Given the description of an element on the screen output the (x, y) to click on. 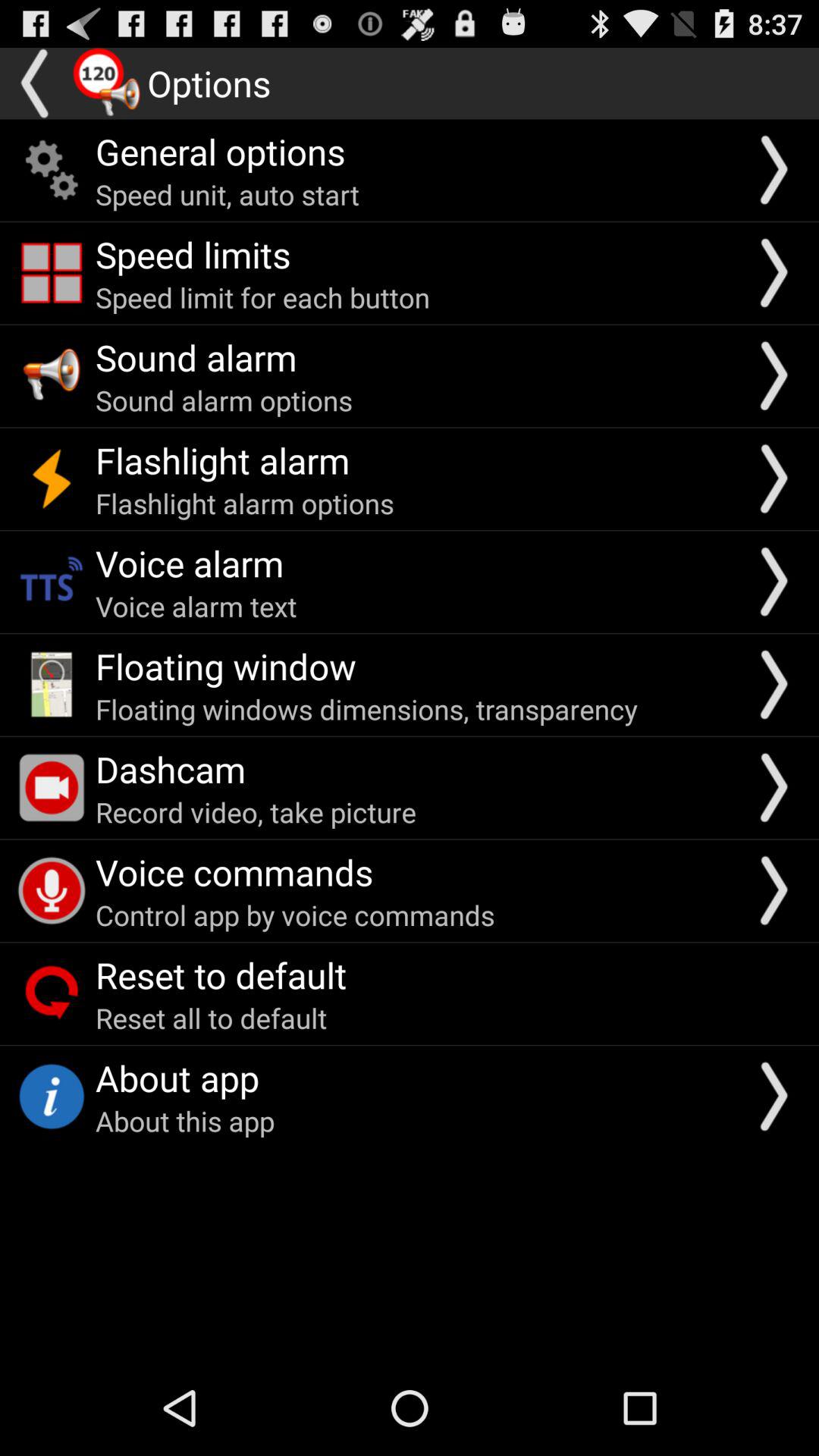
turn on the speed limit for (262, 297)
